Given the description of an element on the screen output the (x, y) to click on. 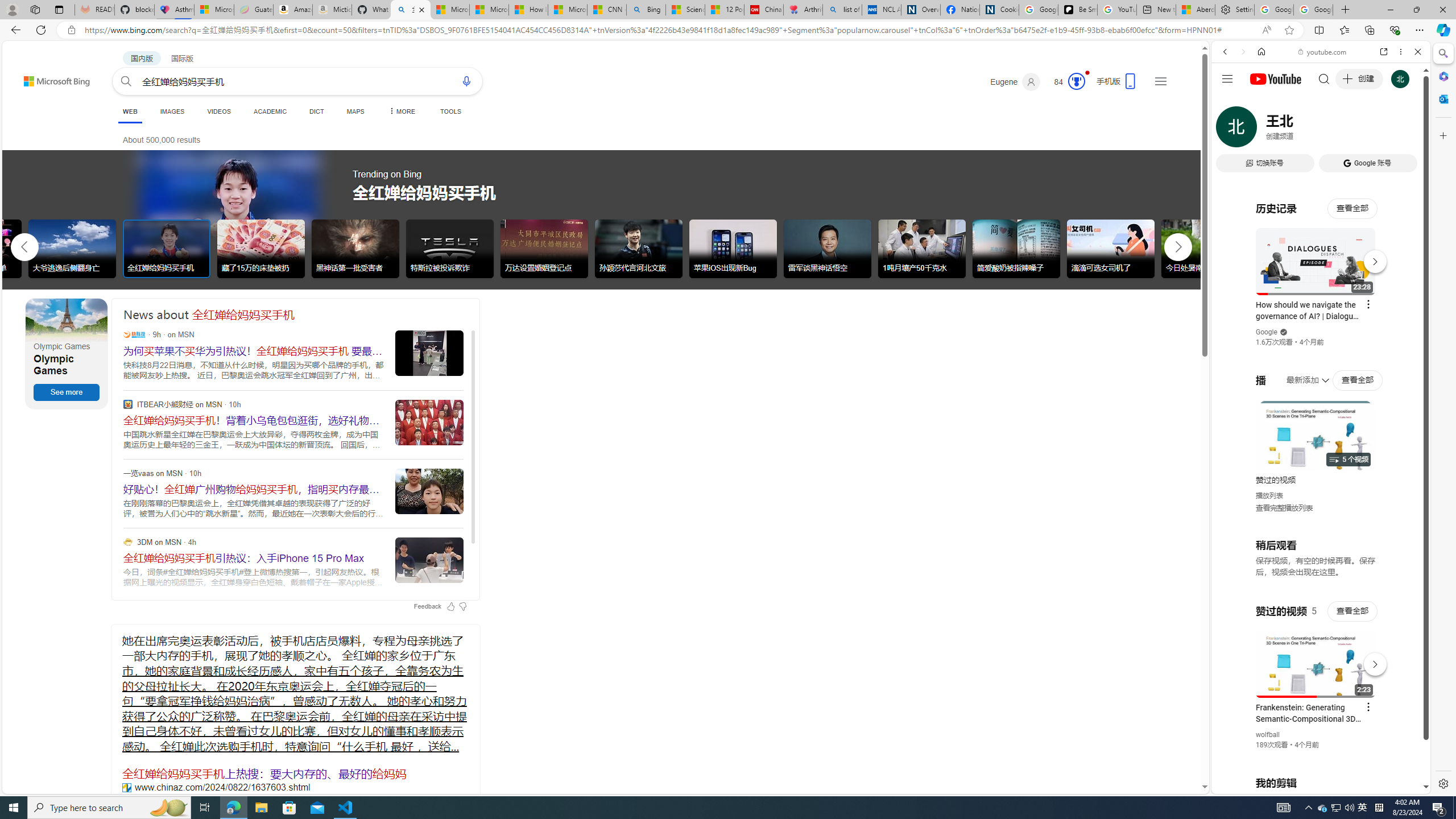
Close Customize pane (1442, 135)
Search videos from youtube.com (1299, 373)
Microsoft Rewards 84 (1065, 81)
How I Got Rid of Microsoft Edge's Unnecessary Features (528, 9)
Search more (1179, 753)
Settings and quick links (1160, 80)
CNN - MSN (606, 9)
